Given the description of an element on the screen output the (x, y) to click on. 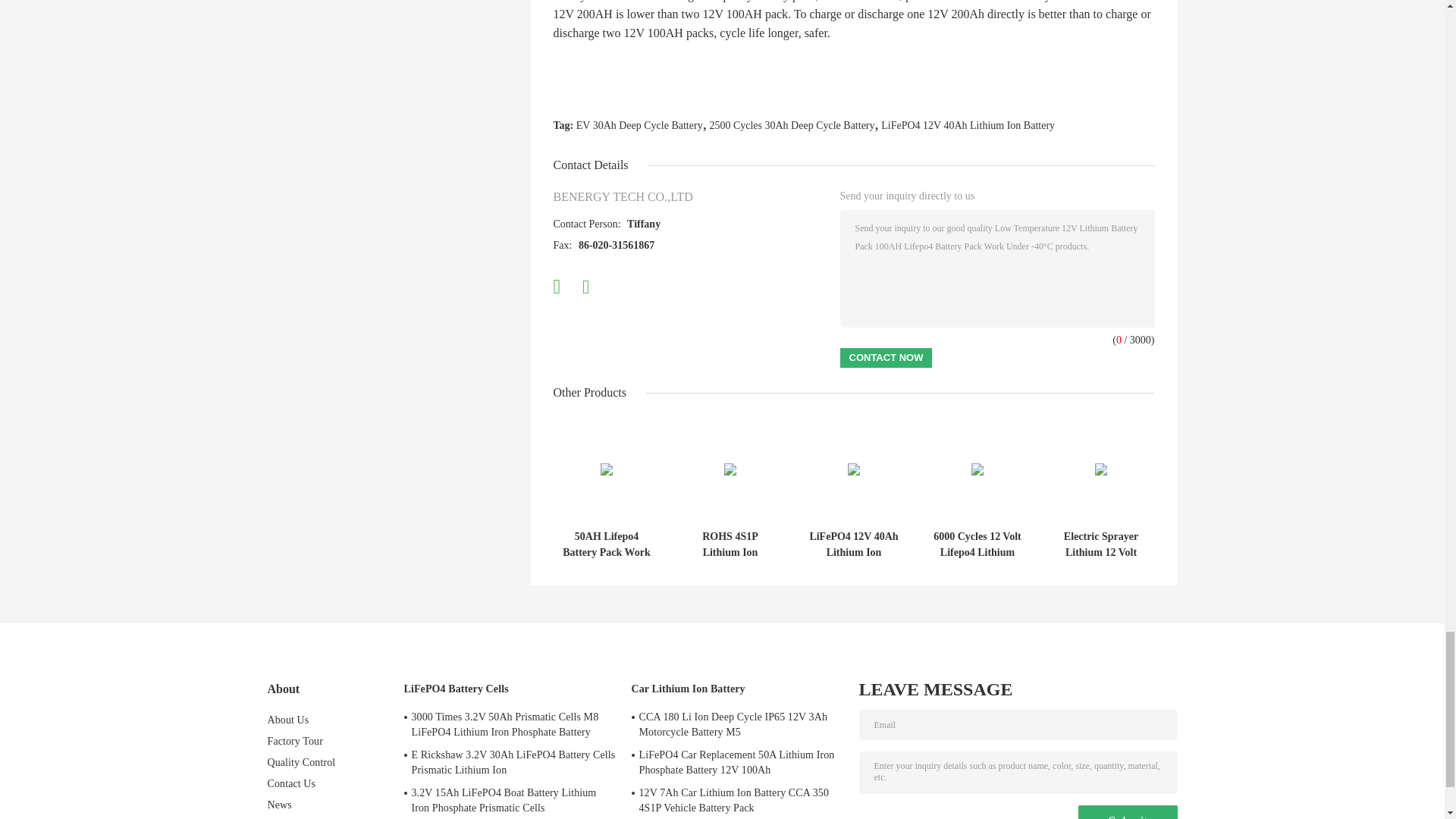
Submit (1127, 812)
Contact Now (886, 357)
